Given the description of an element on the screen output the (x, y) to click on. 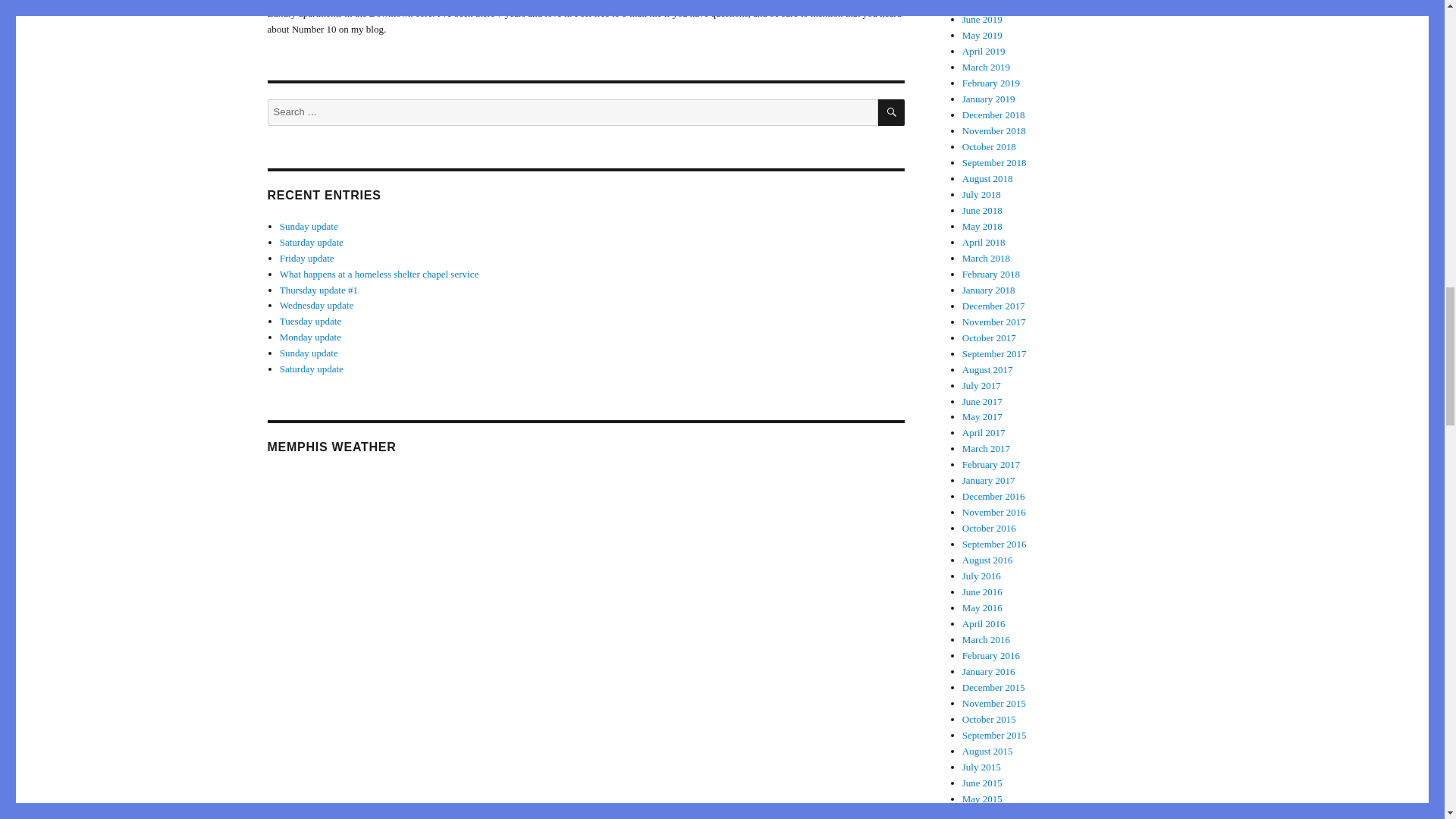
Wednesday update (316, 305)
What happens at a homeless shelter chapel service (379, 274)
Friday update (306, 257)
Sunday update (308, 225)
Saturday update (311, 368)
SEARCH (890, 112)
Tuesday update (310, 320)
Monday update (309, 337)
Saturday update (311, 242)
Sunday update (308, 352)
